Given the description of an element on the screen output the (x, y) to click on. 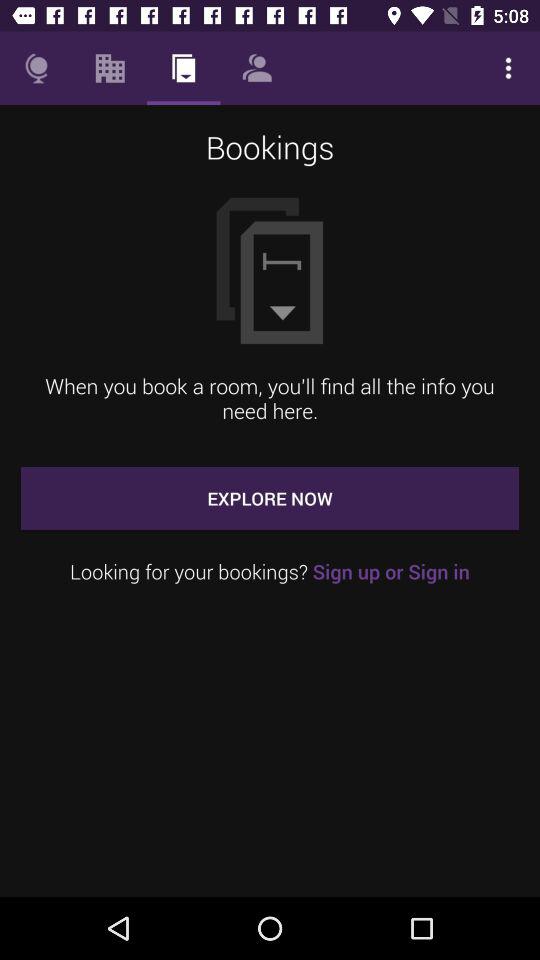
open item above the bookings (256, 68)
